Given the description of an element on the screen output the (x, y) to click on. 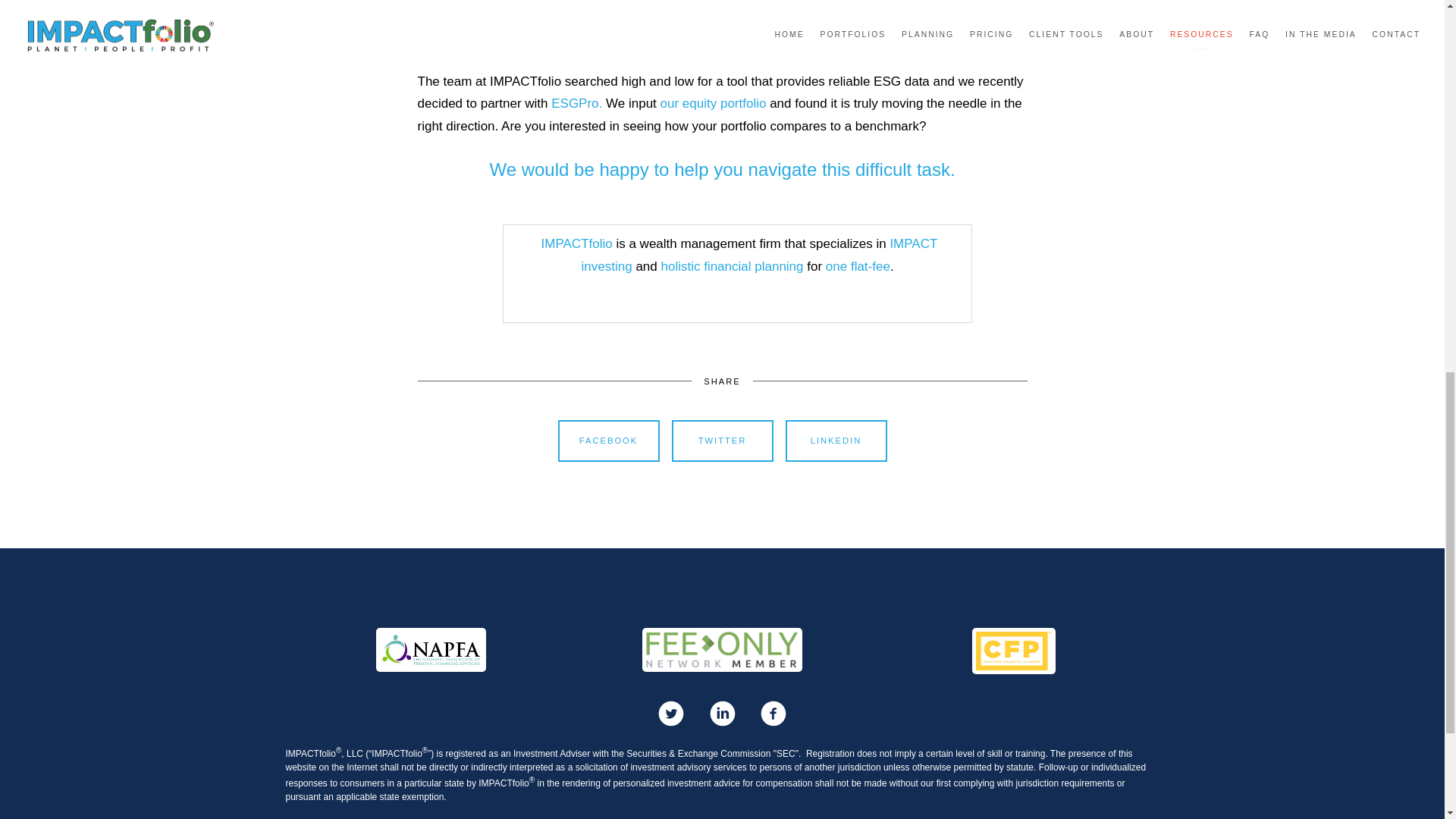
IMPACT investing (758, 254)
 IMPACTfolio (574, 243)
FACEBOOK (608, 441)
one flat-fee (857, 266)
holistic financial planning (732, 266)
our equity portfolio (714, 103)
TWITTER (722, 441)
ESGPro. (576, 103)
LINKEDIN (836, 441)
We would be happy to help you navigate this difficult task. (722, 168)
